Given the description of an element on the screen output the (x, y) to click on. 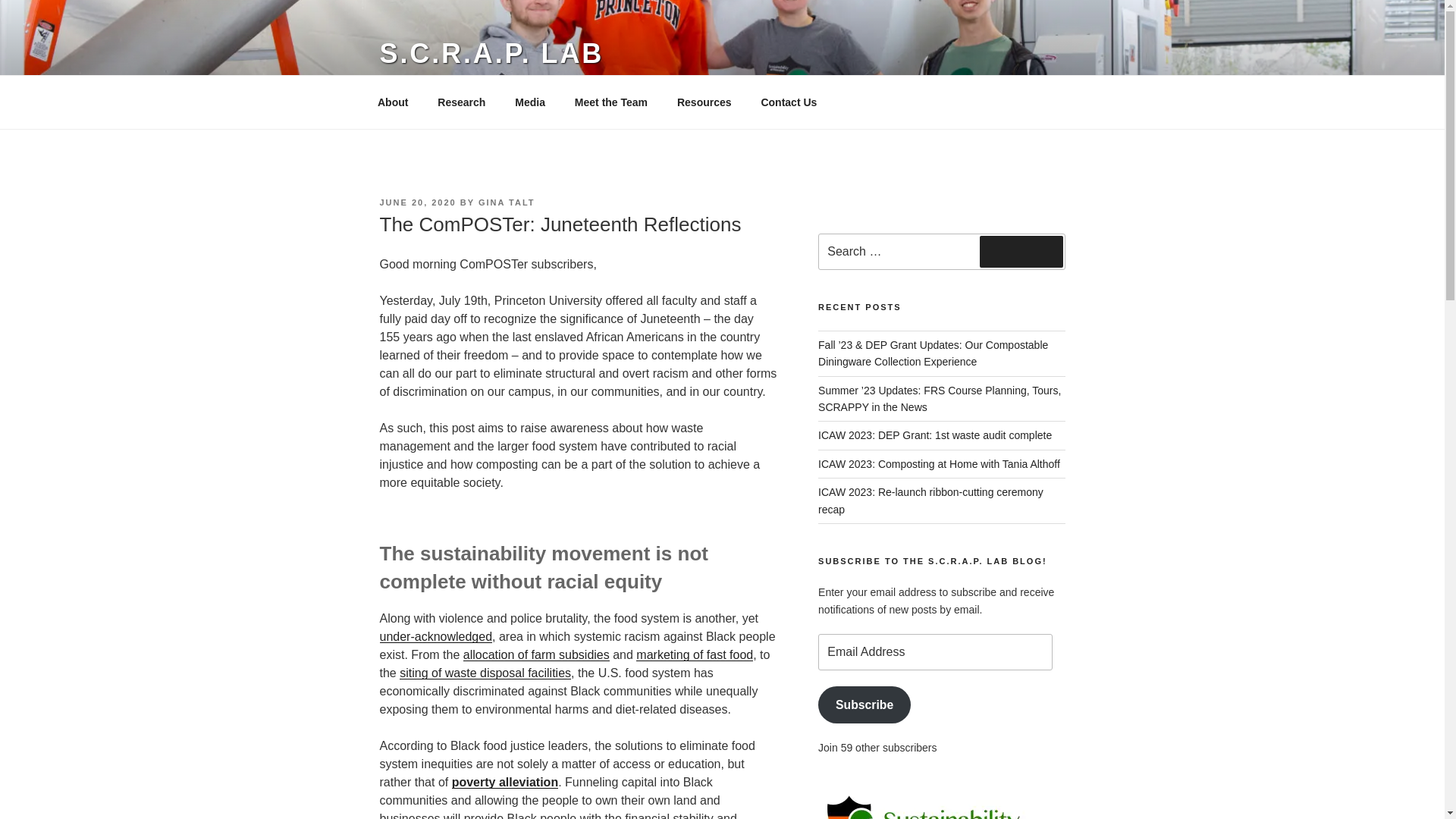
ICAW 2023: Re-launch ribbon-cutting ceremony recap (930, 500)
Meet the Team (610, 101)
ICAW 2023: DEP Grant: 1st waste audit complete (934, 435)
allocation of farm subsidies (536, 654)
Research (462, 101)
under-acknowledged (435, 635)
S.C.R.A.P. LAB (491, 52)
marketing of fast food (694, 654)
poverty alleviation (505, 781)
Media (530, 101)
